Given the description of an element on the screen output the (x, y) to click on. 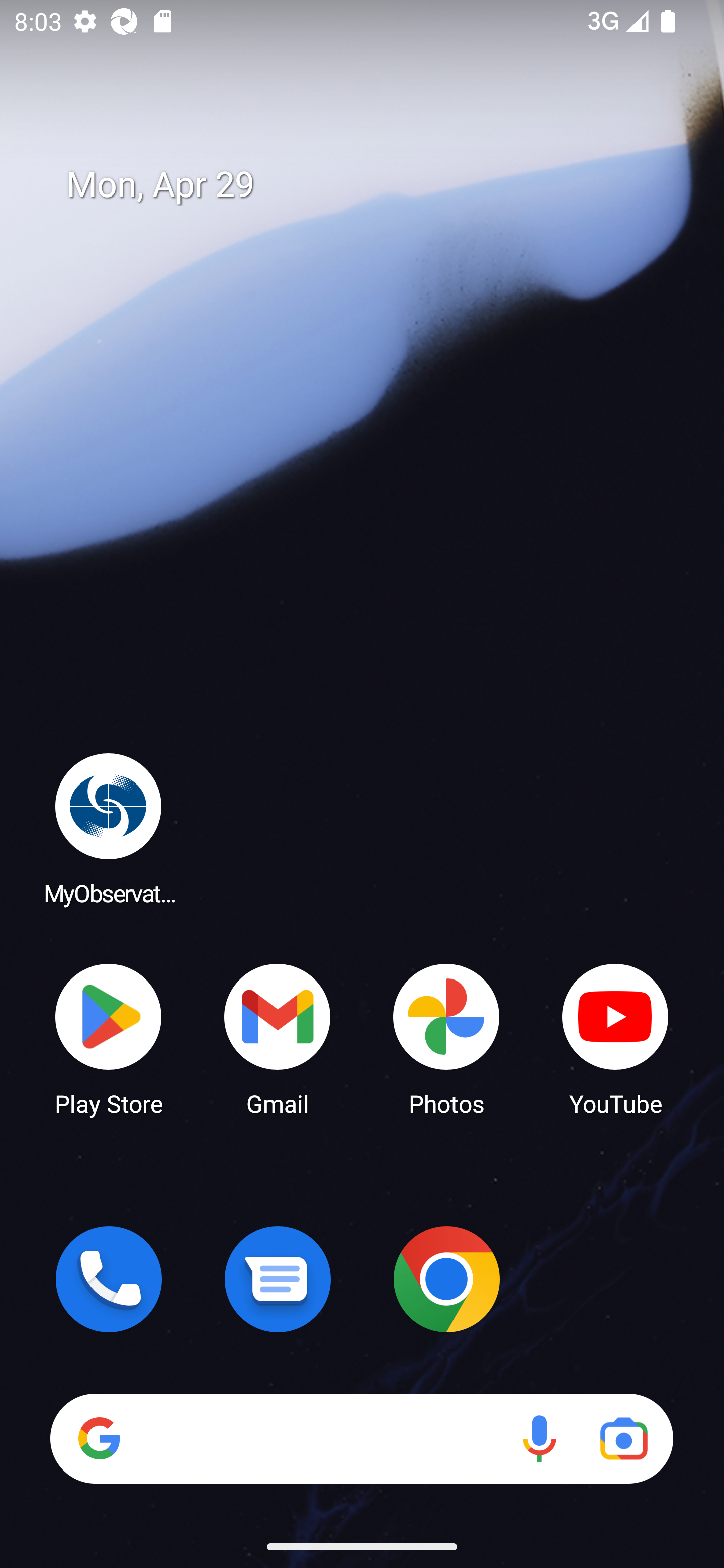
Mon, Apr 29 (375, 184)
MyObservatory (108, 828)
Play Store (108, 1038)
Gmail (277, 1038)
Photos (445, 1038)
YouTube (615, 1038)
Phone (108, 1279)
Messages (277, 1279)
Chrome (446, 1279)
Voice search (539, 1438)
Google Lens (623, 1438)
